Given the description of an element on the screen output the (x, y) to click on. 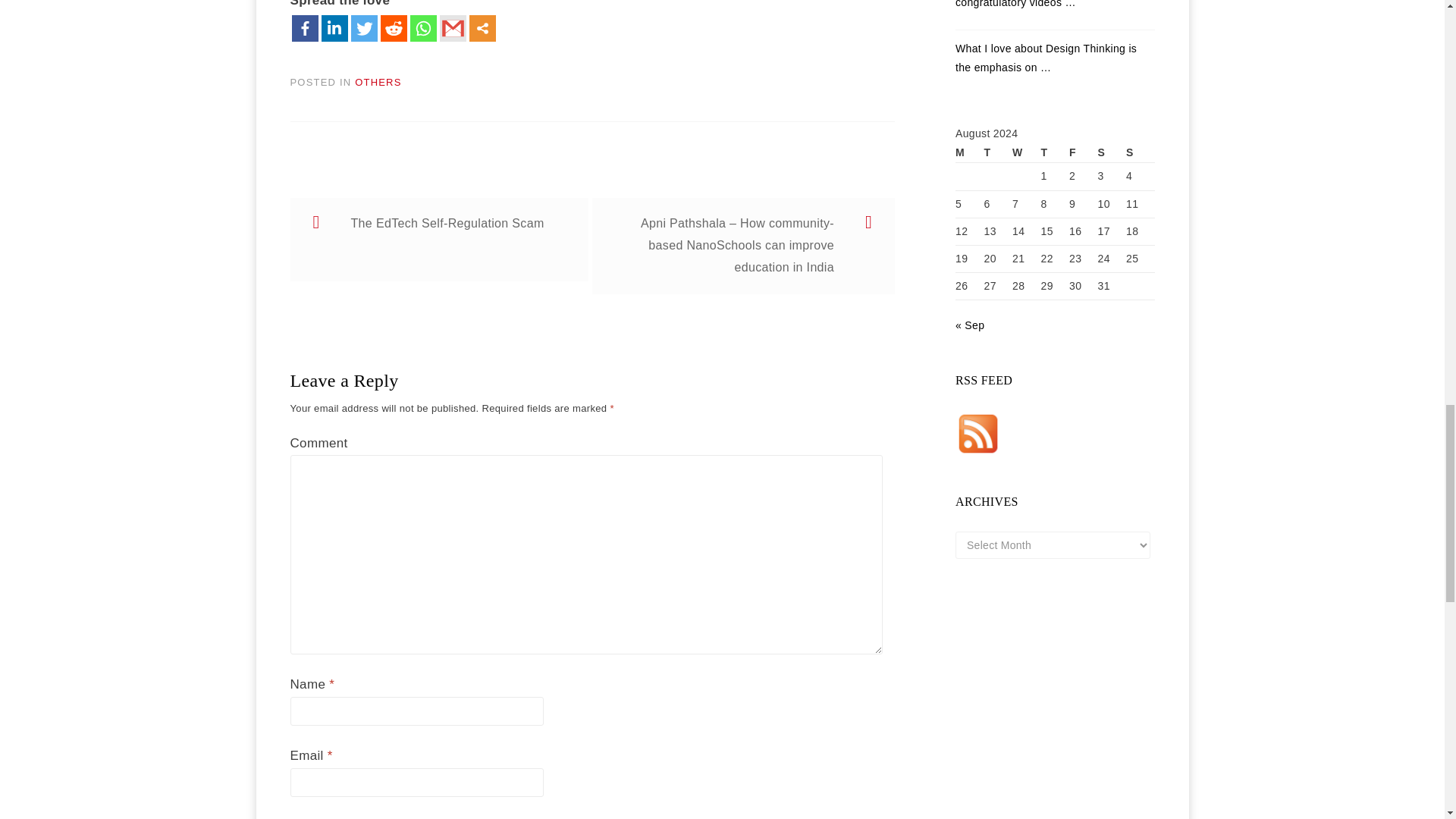
Google Gmail (452, 28)
Sunday (1139, 152)
Friday (1082, 152)
Wednesday (1026, 152)
More (481, 28)
Twitter (363, 28)
Thursday (1054, 152)
Saturday (1111, 152)
Monday (969, 152)
The EdTech Self-Regulation Scam (438, 239)
